Given the description of an element on the screen output the (x, y) to click on. 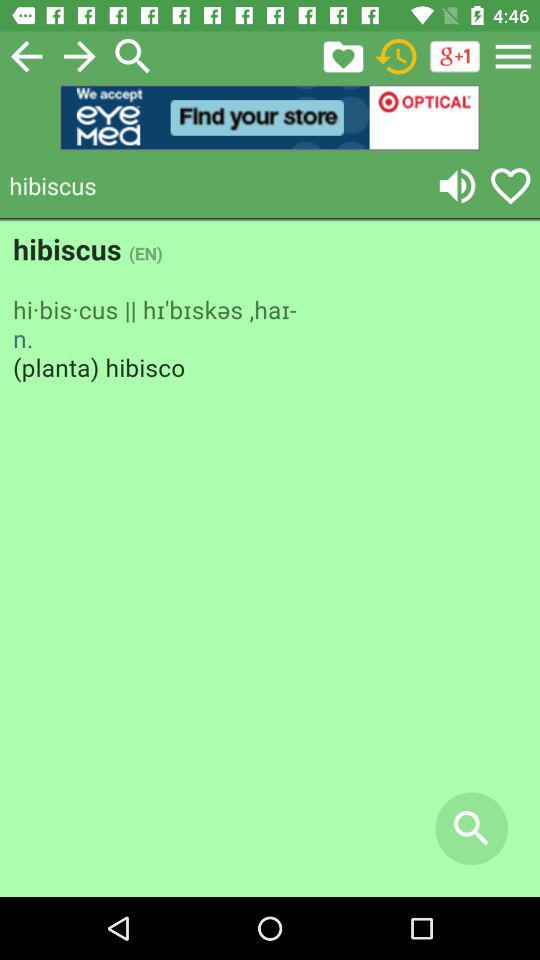
search box (133, 56)
